Given the description of an element on the screen output the (x, y) to click on. 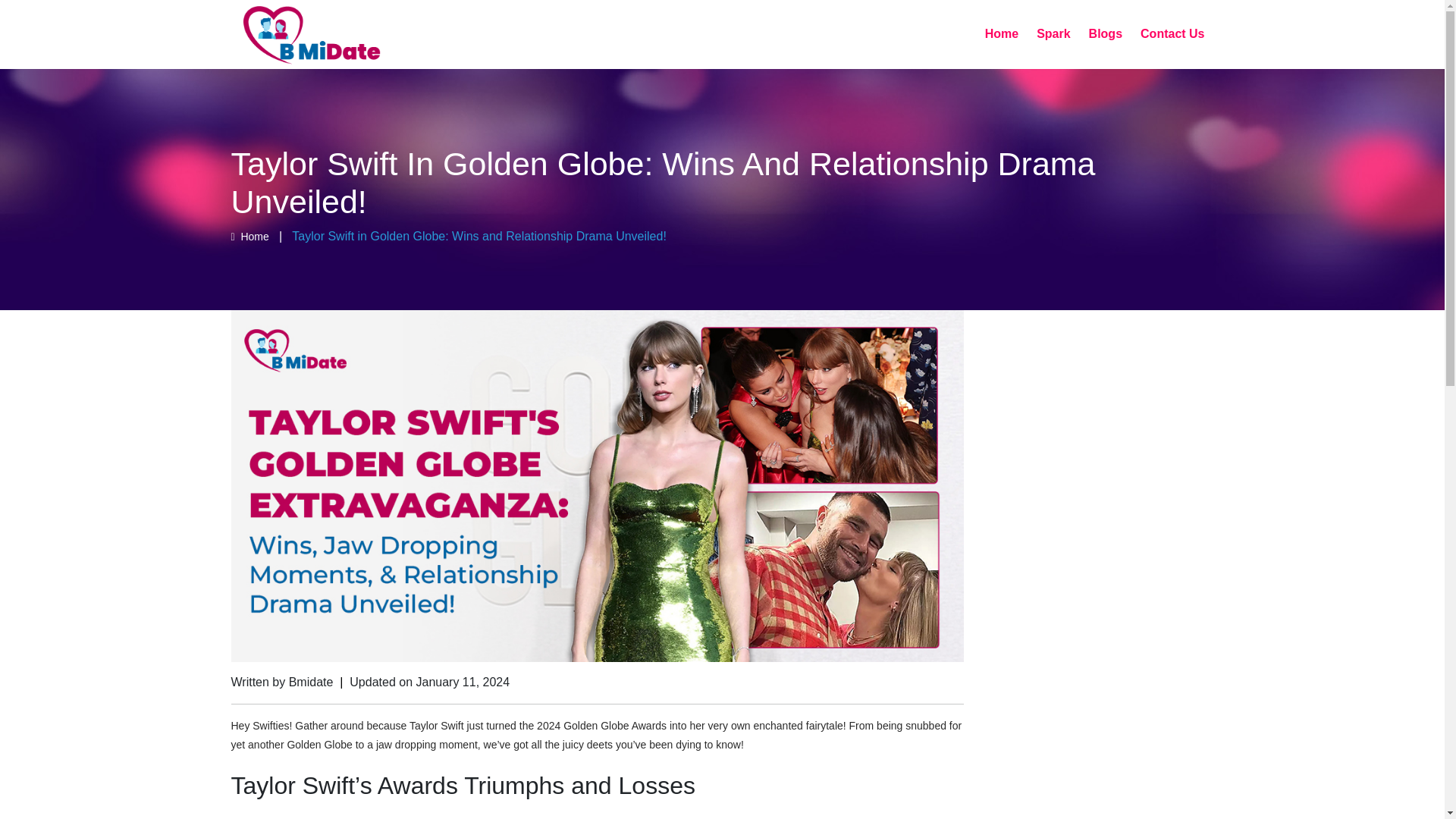
  Home (248, 236)
Spark (1053, 34)
Contact Us (1172, 34)
Home (1001, 34)
Blogs (1105, 34)
Homepage (248, 236)
